Given the description of an element on the screen output the (x, y) to click on. 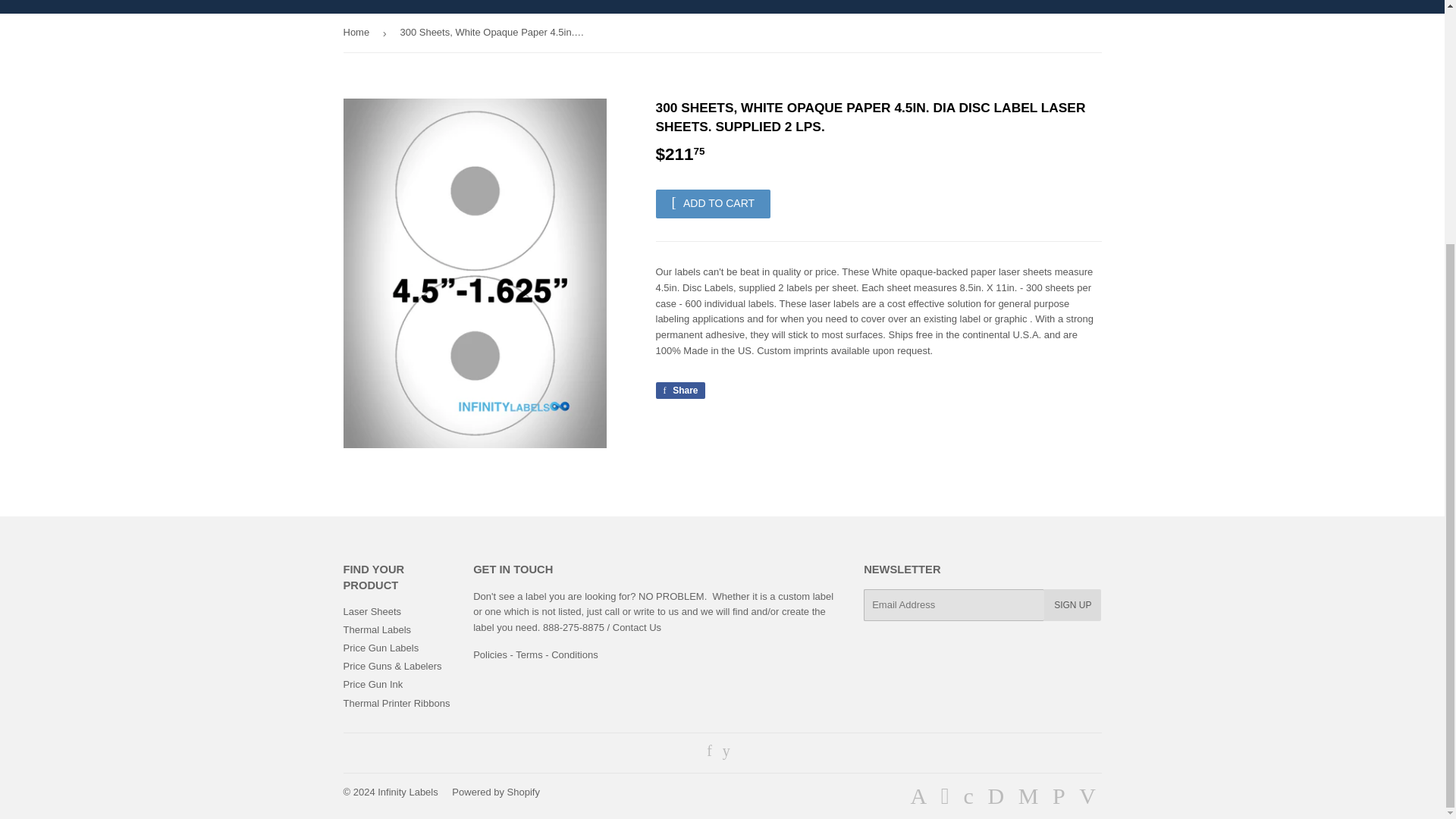
Infinity Labels (407, 791)
Price Gun Ink (679, 390)
Policies - Terms - Conditions (372, 684)
ADD TO CART (534, 654)
INFINITY LABELS BLOG (712, 203)
ABOUT US (708, 6)
Price Gun Labels (502, 6)
Powered by Shopify (380, 647)
Share on Facebook (495, 791)
Infinity Labels: Policies - Terms - Conditions (679, 390)
CATALOG (534, 654)
HOME (424, 6)
Contact Us (359, 6)
SIGN UP (636, 627)
